Given the description of an element on the screen output the (x, y) to click on. 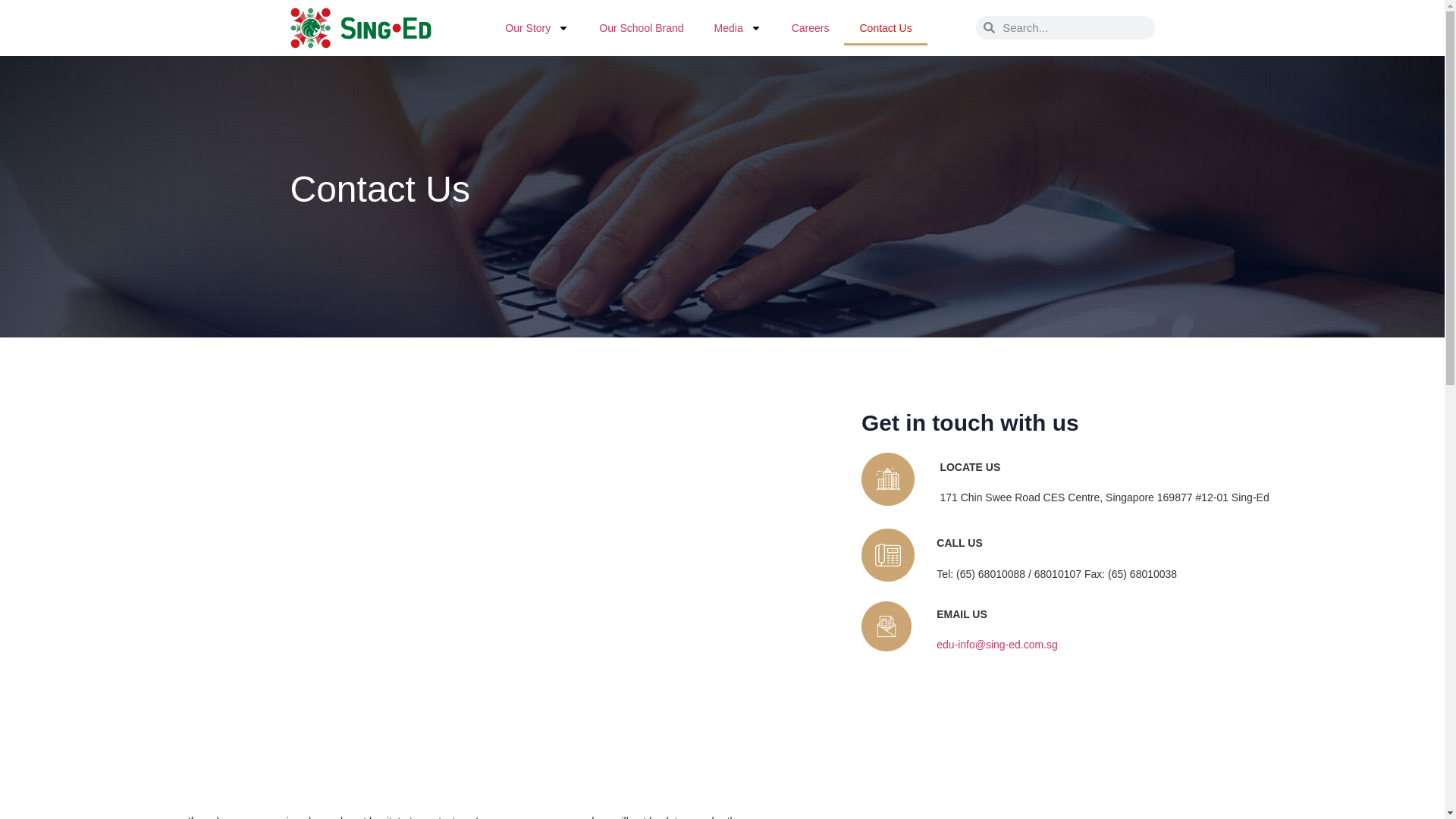
EMAIL US (961, 613)
Media (737, 27)
Our School Brand (640, 27)
Careers (810, 27)
Our Story (536, 27)
Contact Us (885, 27)
